Given the description of an element on the screen output the (x, y) to click on. 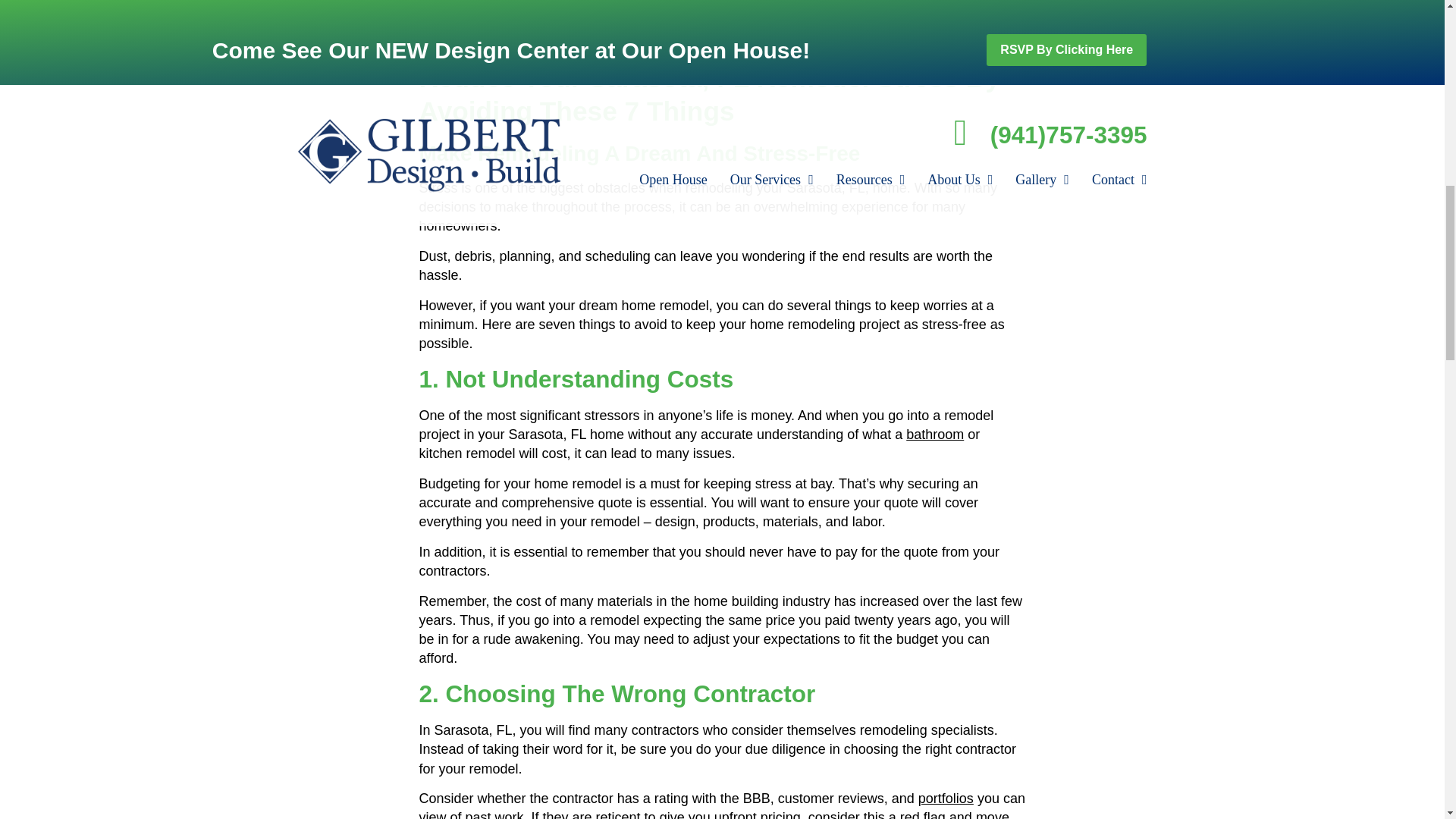
bathroom (934, 434)
portfolios (946, 798)
